Given the description of an element on the screen output the (x, y) to click on. 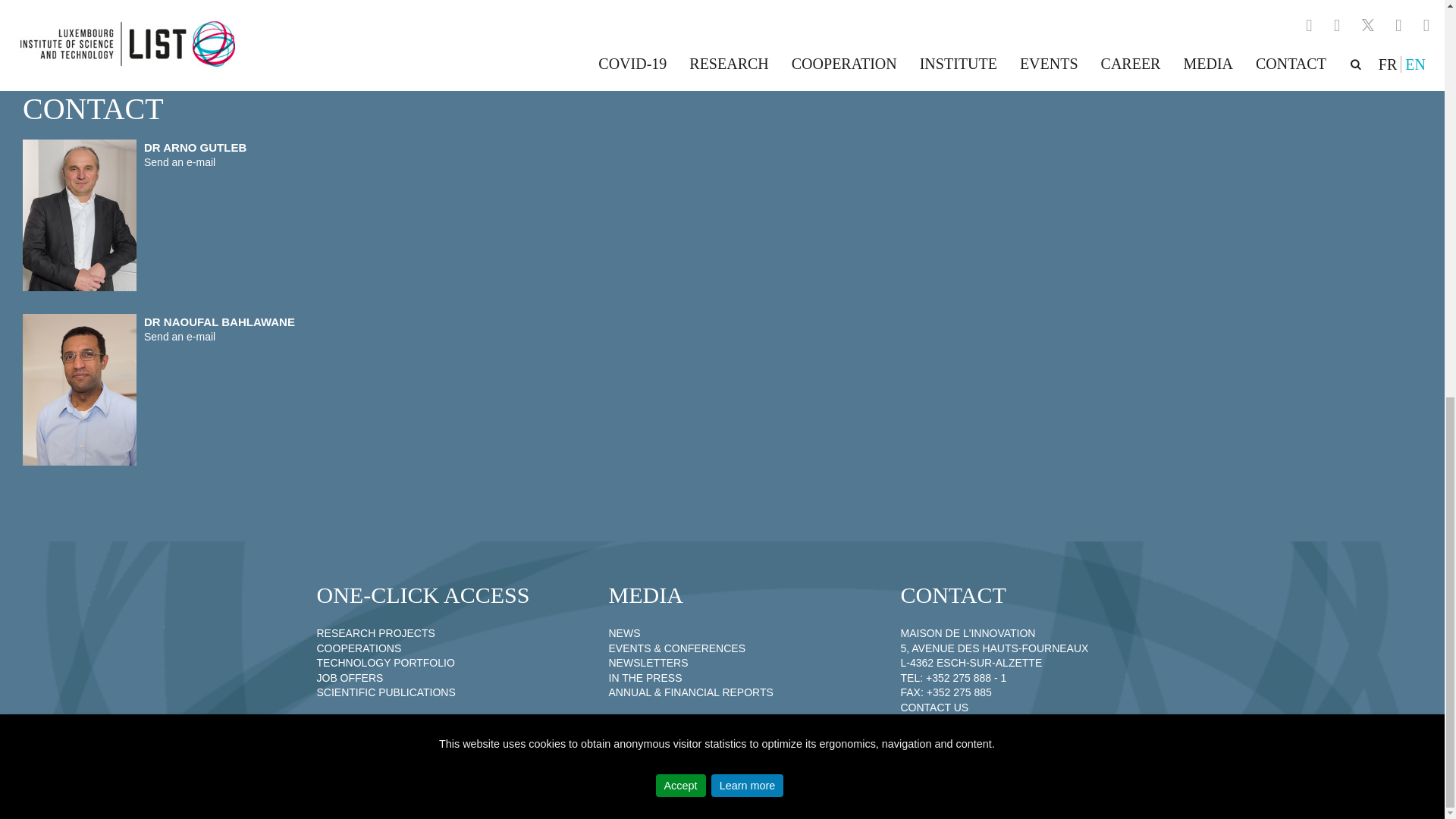
Learn more (747, 15)
Accept (681, 15)
Accept cookies (681, 15)
